Given the description of an element on the screen output the (x, y) to click on. 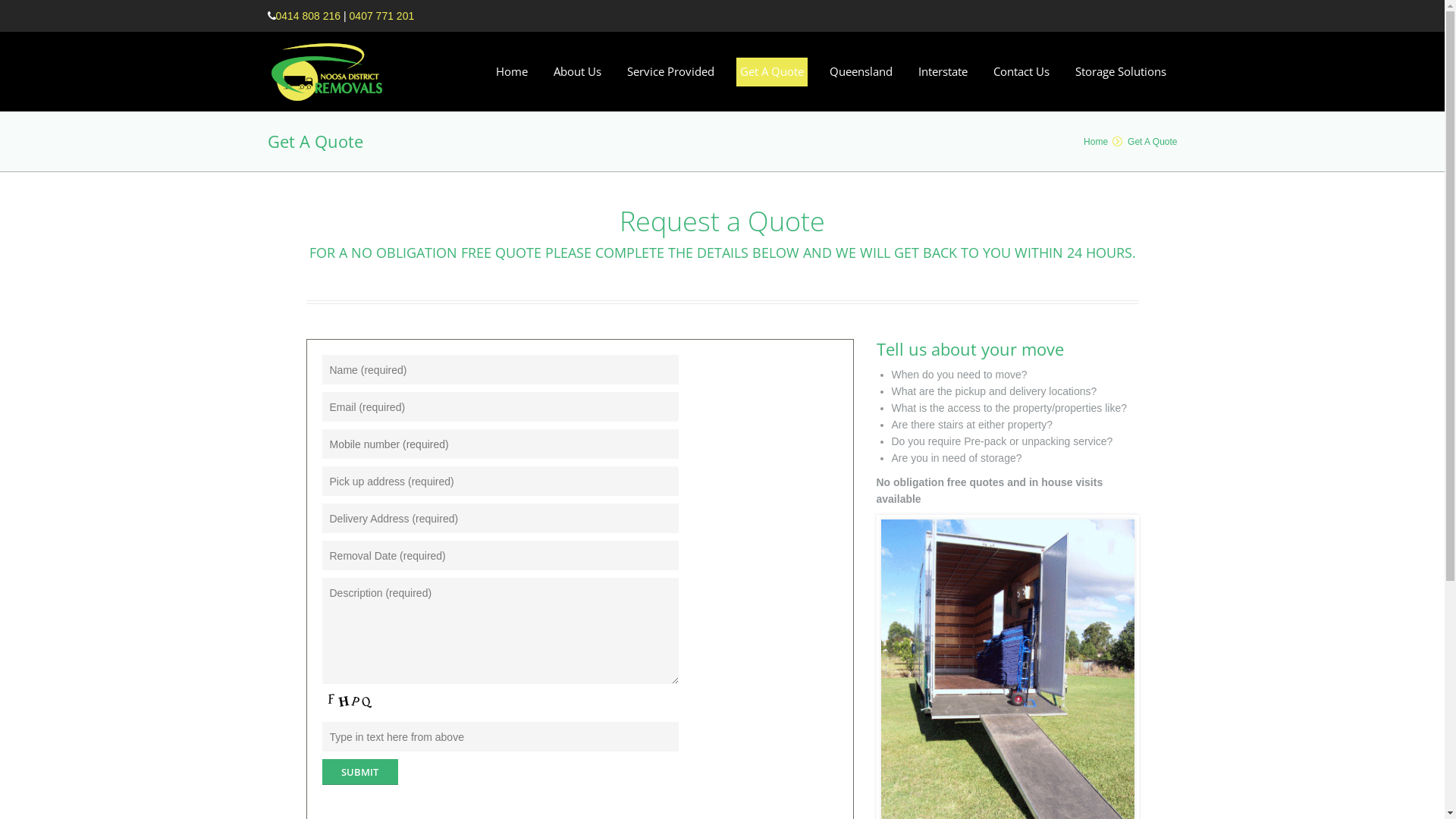
About Us Element type: text (577, 71)
Home Element type: text (1095, 141)
Queensland Element type: text (860, 71)
Storage Solutions Element type: text (1119, 71)
Service Provided Element type: text (670, 71)
Submit Element type: text (359, 771)
0407 771 201 Element type: text (381, 15)
Contact Us Element type: text (1021, 71)
Interstate Element type: text (942, 71)
0414 808 216 Element type: text (308, 15)
Home Element type: text (511, 71)
Get A Quote Element type: text (771, 71)
